Given the description of an element on the screen output the (x, y) to click on. 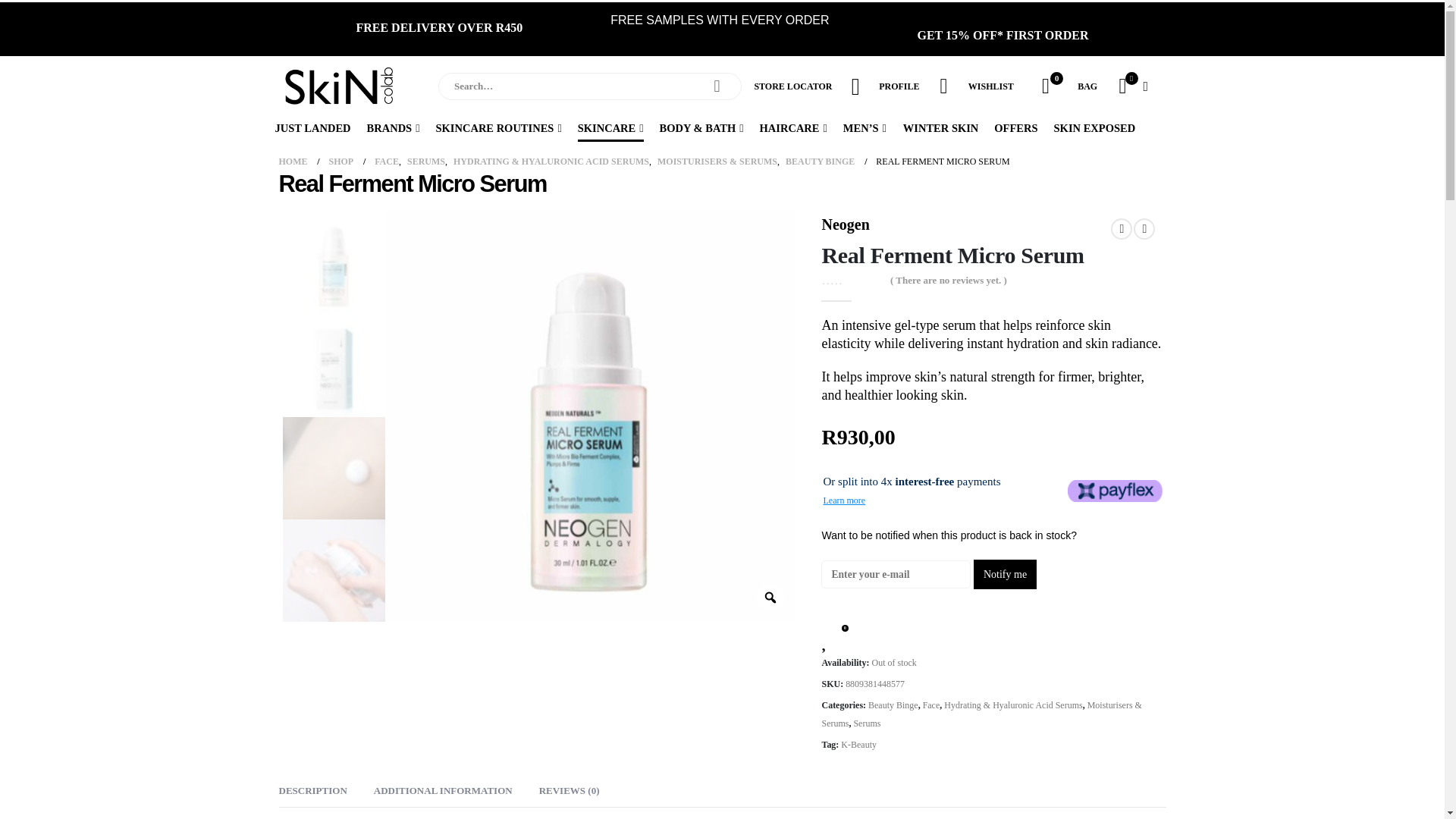
BAG (1087, 86)
0 (1045, 86)
My Account (943, 86)
WISHLIST (990, 86)
Go to Home Page (293, 161)
SkiNcolab - Let's talk skin (339, 85)
PROFILE (898, 86)
Wishlist (1045, 86)
BRANDS (393, 128)
STORE LOCATOR (792, 86)
Search (717, 86)
JUST LANDED (312, 128)
